Given the description of an element on the screen output the (x, y) to click on. 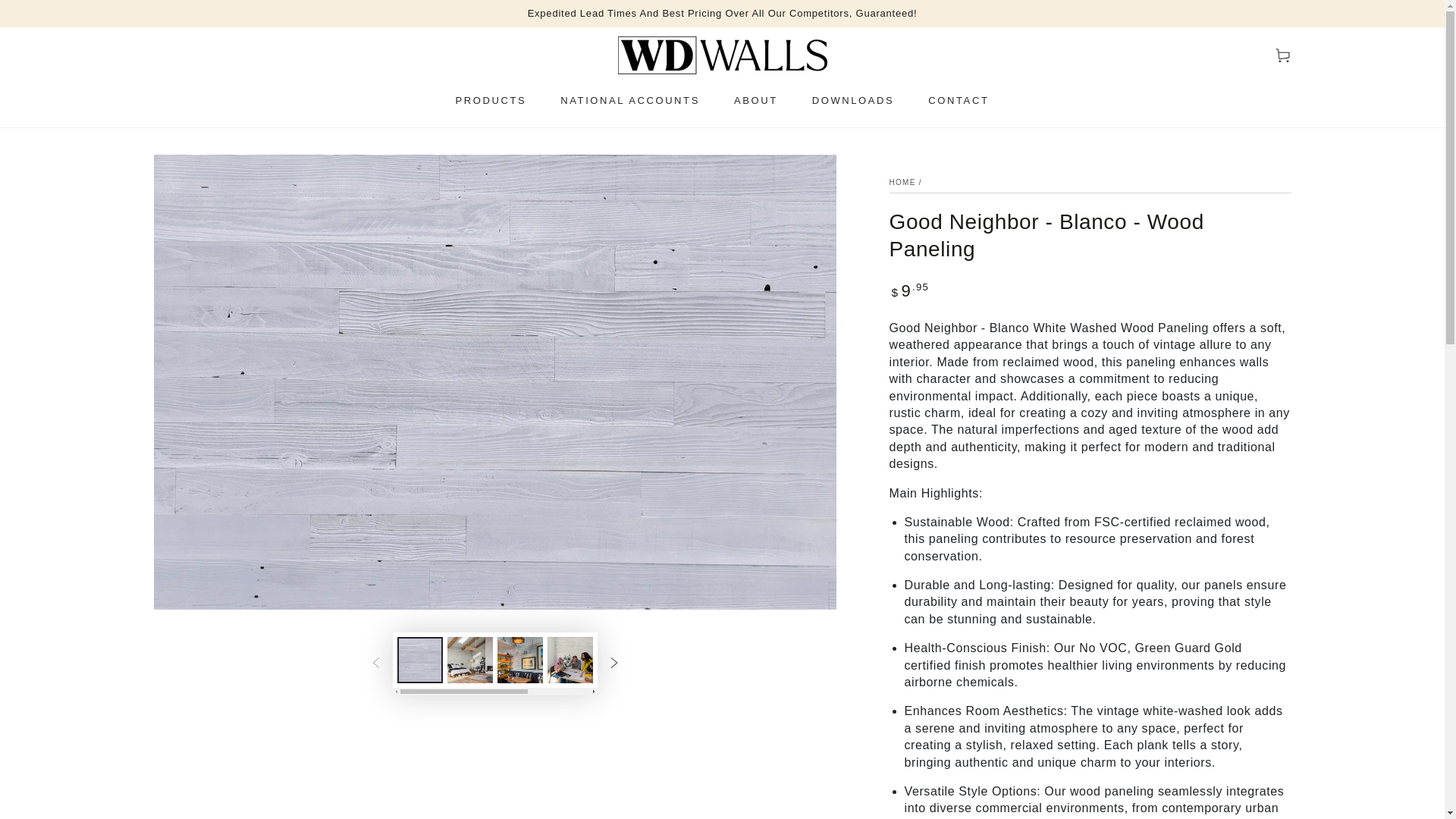
DOWNLOADS (852, 99)
ABOUT (755, 99)
NATIONAL ACCOUNTS (629, 99)
Back to the frontpage (901, 182)
SKIP TO CONTENT (67, 14)
PRODUCTS (491, 99)
CONTACT (958, 99)
